Given the description of an element on the screen output the (x, y) to click on. 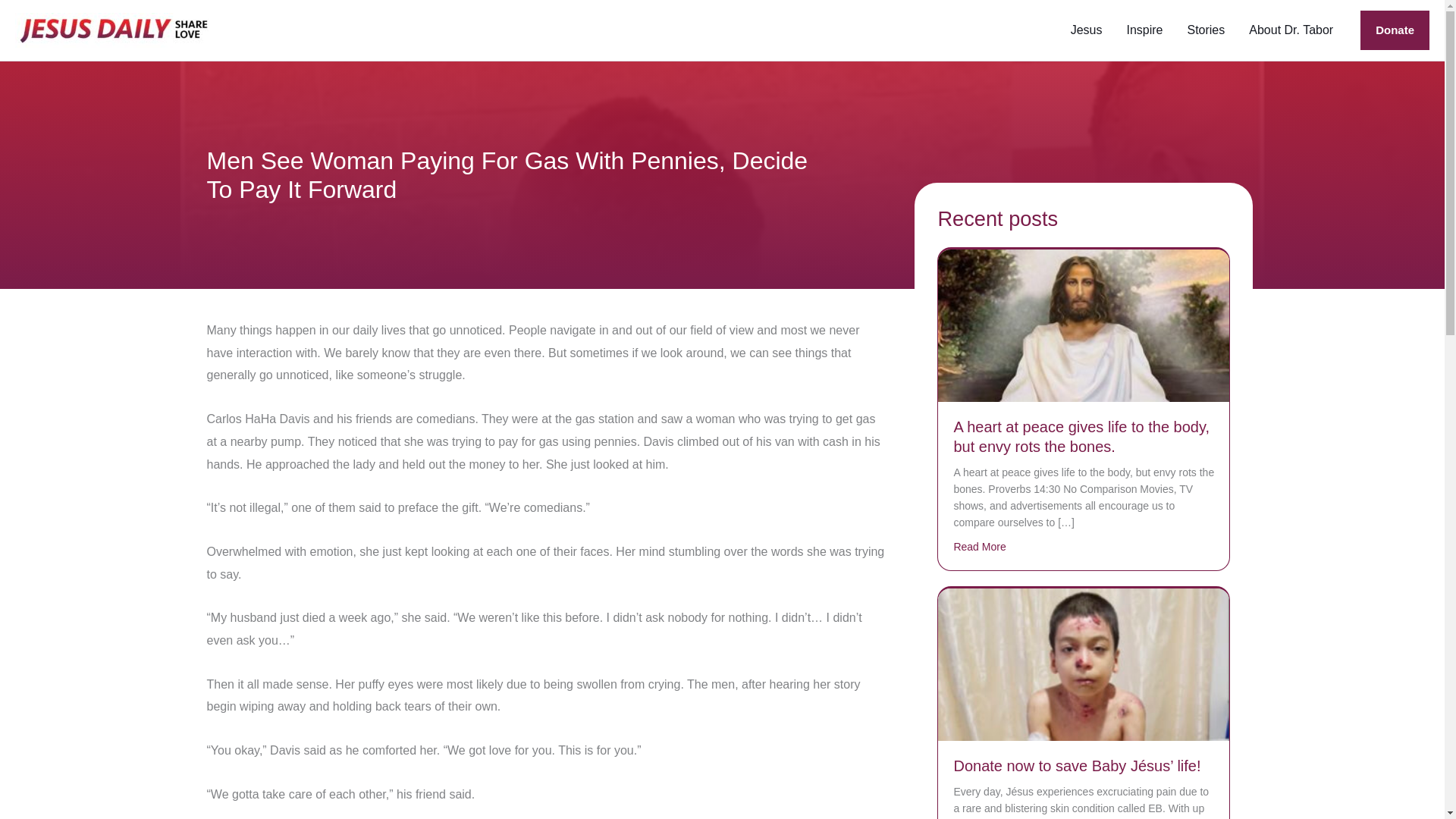
Stories (1205, 30)
Read More (979, 546)
Jesus (1086, 30)
About Dr. Tabor (1290, 30)
Inspire (1143, 30)
Donate (1394, 29)
